Given the description of an element on the screen output the (x, y) to click on. 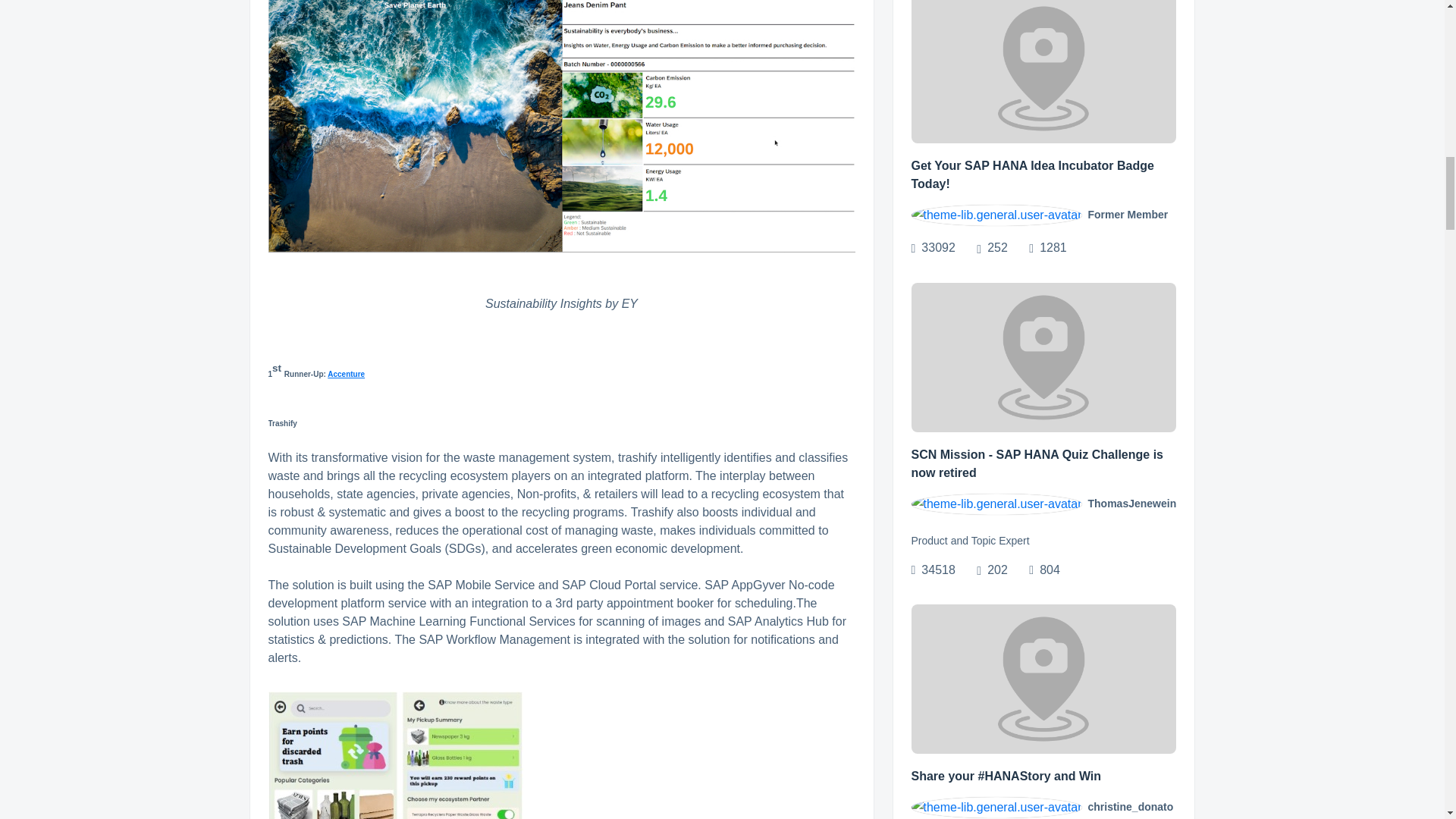
Accenture (346, 372)
